Given the description of an element on the screen output the (x, y) to click on. 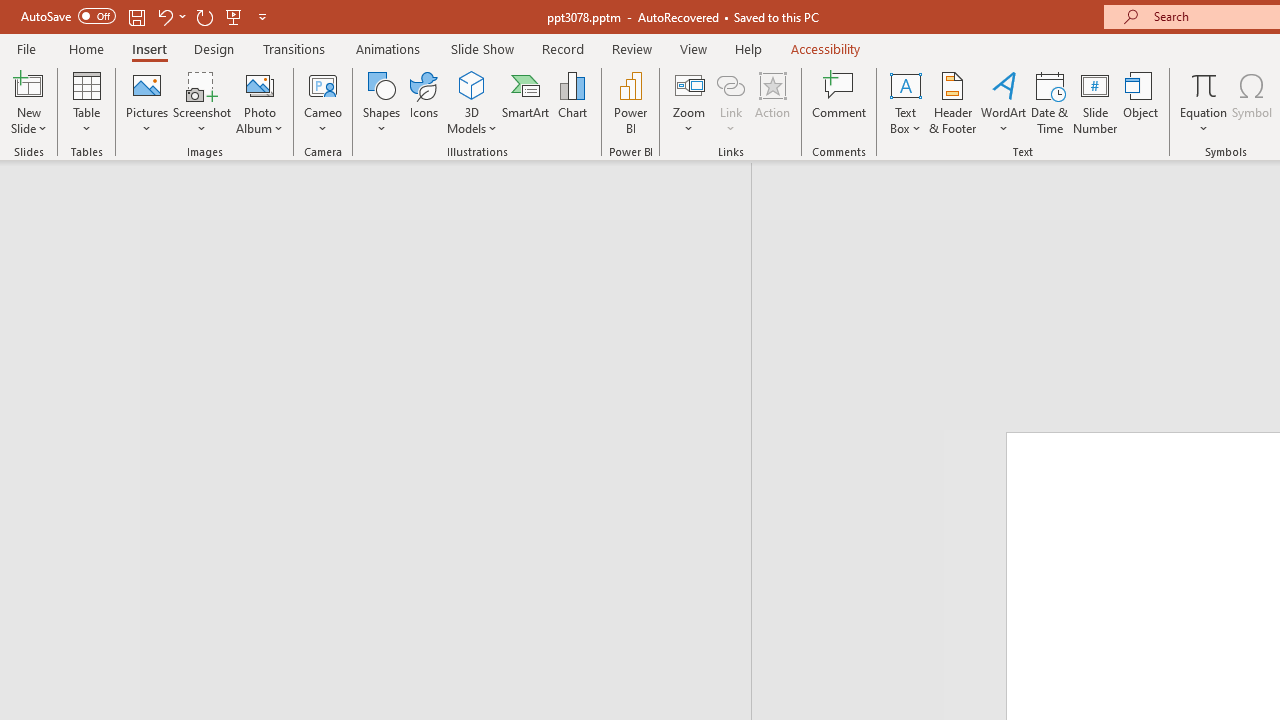
Equation (1203, 84)
Header & Footer... (952, 102)
Action (772, 102)
Outline (384, 215)
New Photo Album... (259, 84)
Equation (1203, 102)
3D Models (472, 84)
